Given the description of an element on the screen output the (x, y) to click on. 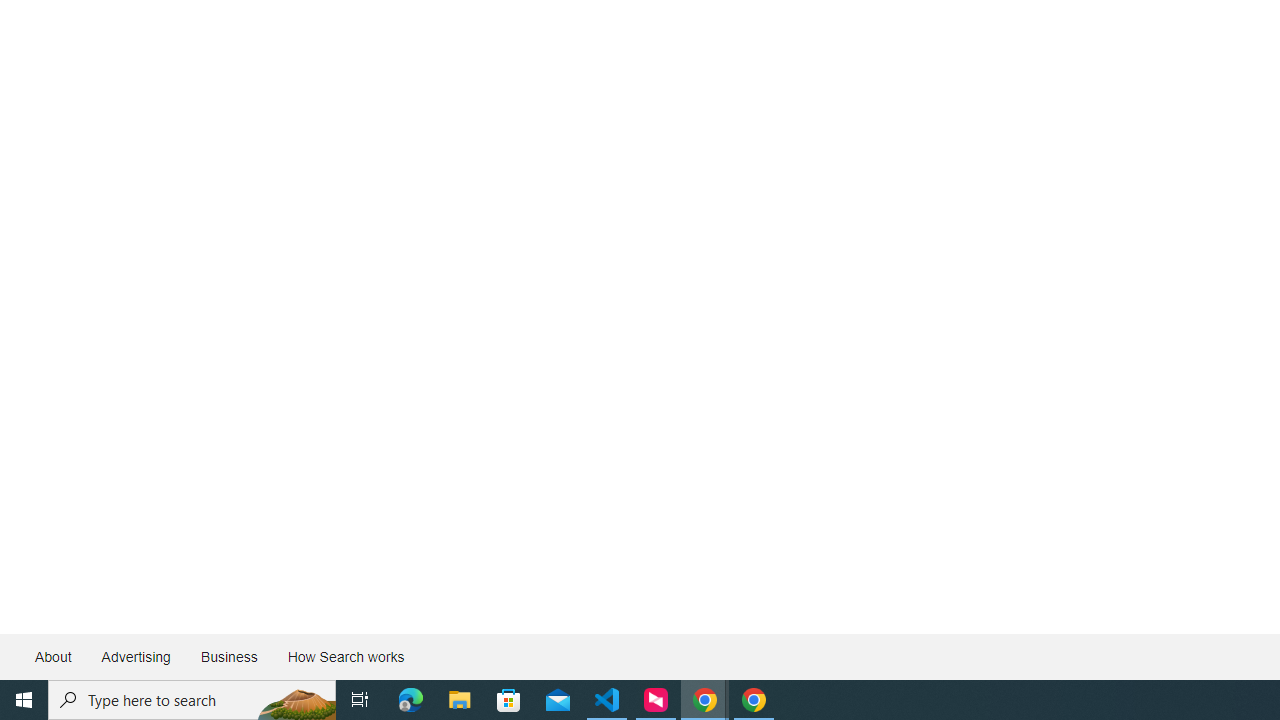
About (53, 656)
How Search works (345, 656)
Business (228, 656)
Advertising (135, 656)
